Given the description of an element on the screen output the (x, y) to click on. 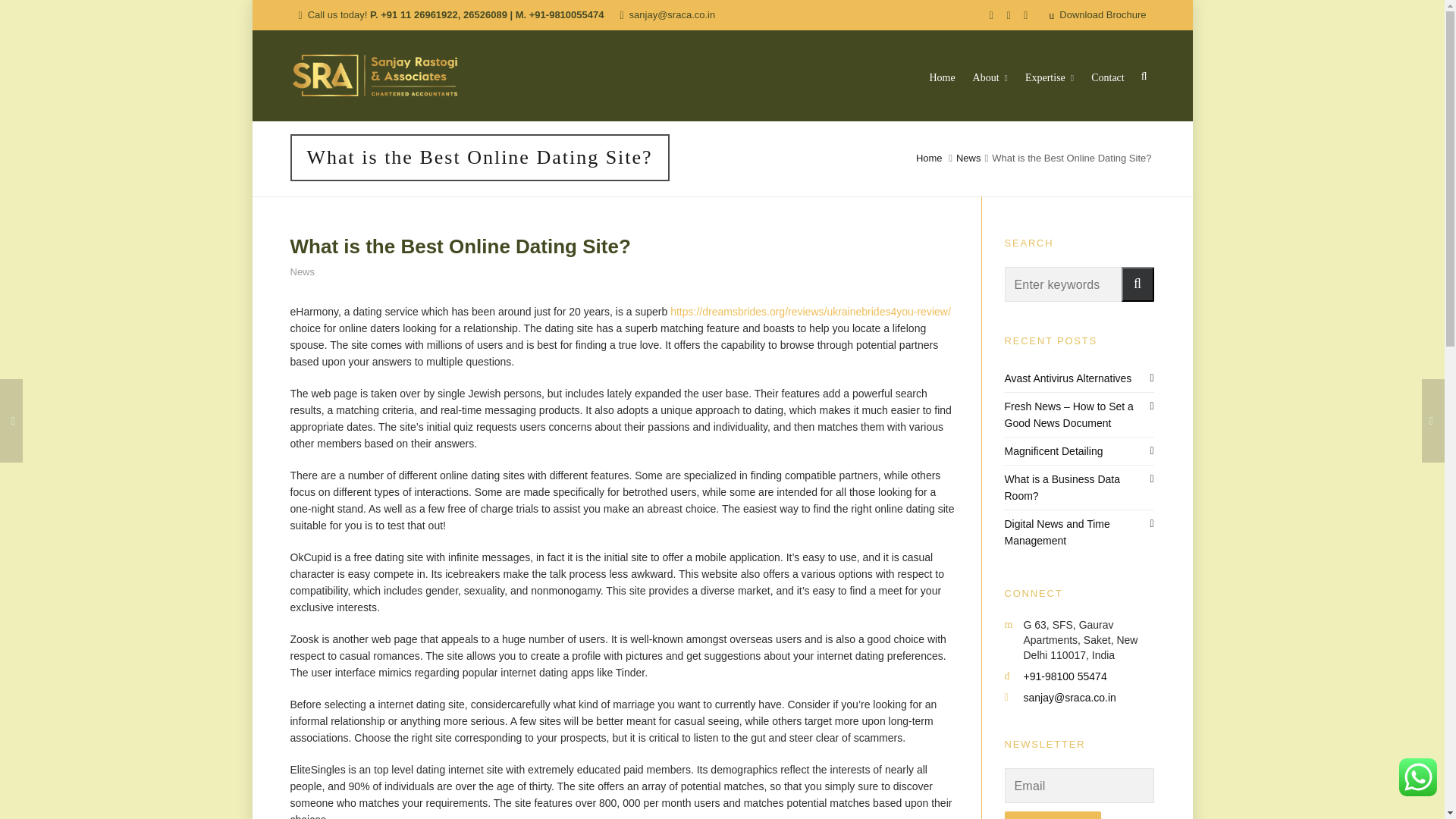
Download Brochure (1096, 15)
Steps to make Romantic Partnerships Last (11, 420)
Home (941, 75)
News (301, 271)
Contact (1107, 75)
News (968, 157)
About (989, 75)
Expertise (1048, 75)
Home (928, 157)
Subscribe (956, 750)
